Given the description of an element on the screen output the (x, y) to click on. 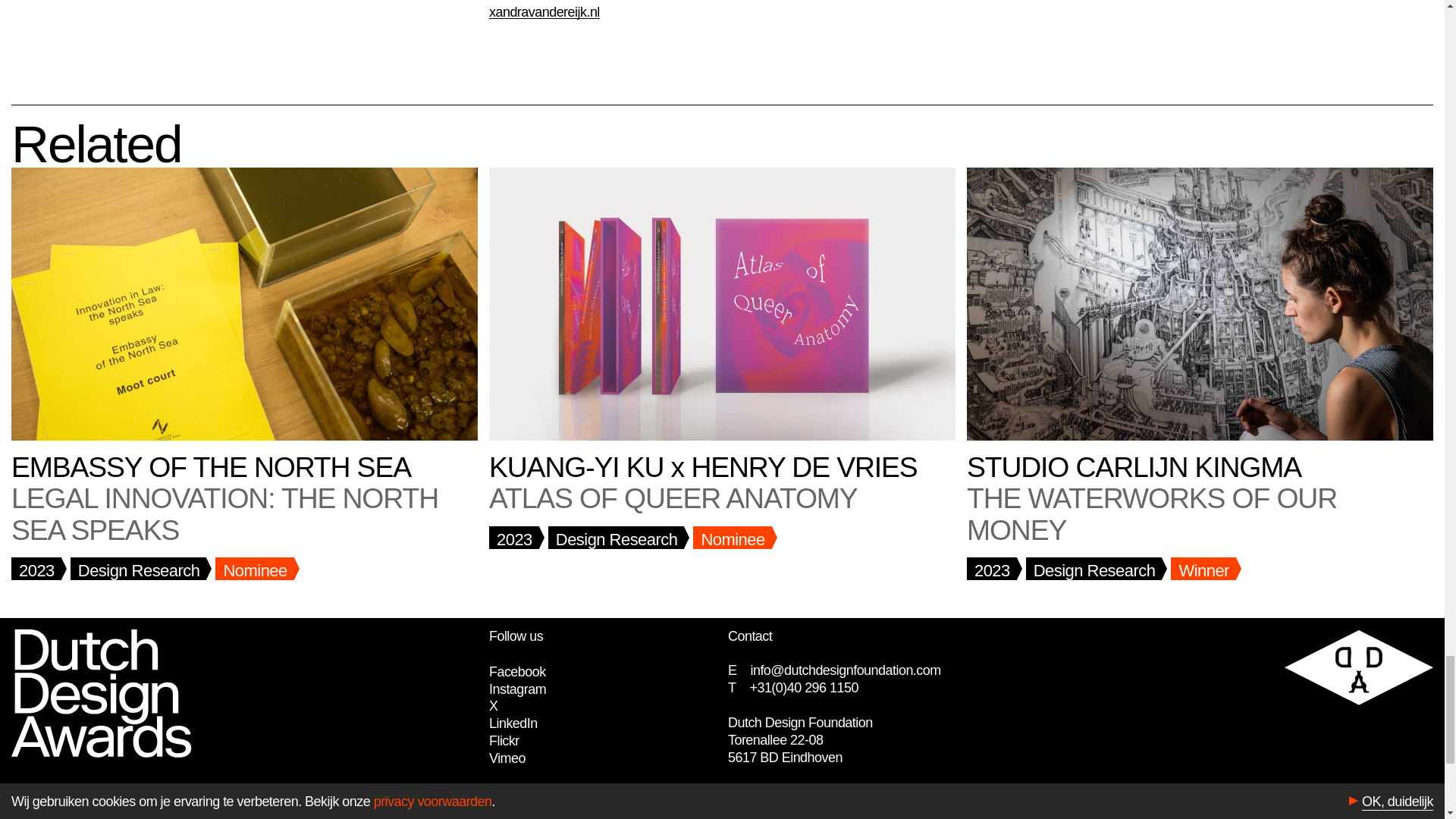
2023 (991, 568)
Nominee (254, 568)
Winner (1202, 568)
LinkedIn (513, 723)
Instagram (517, 688)
2023 (513, 537)
Flickr (504, 740)
xandravandereijk.nl (544, 11)
Facebook (517, 671)
Design Research (616, 537)
